Given the description of an element on the screen output the (x, y) to click on. 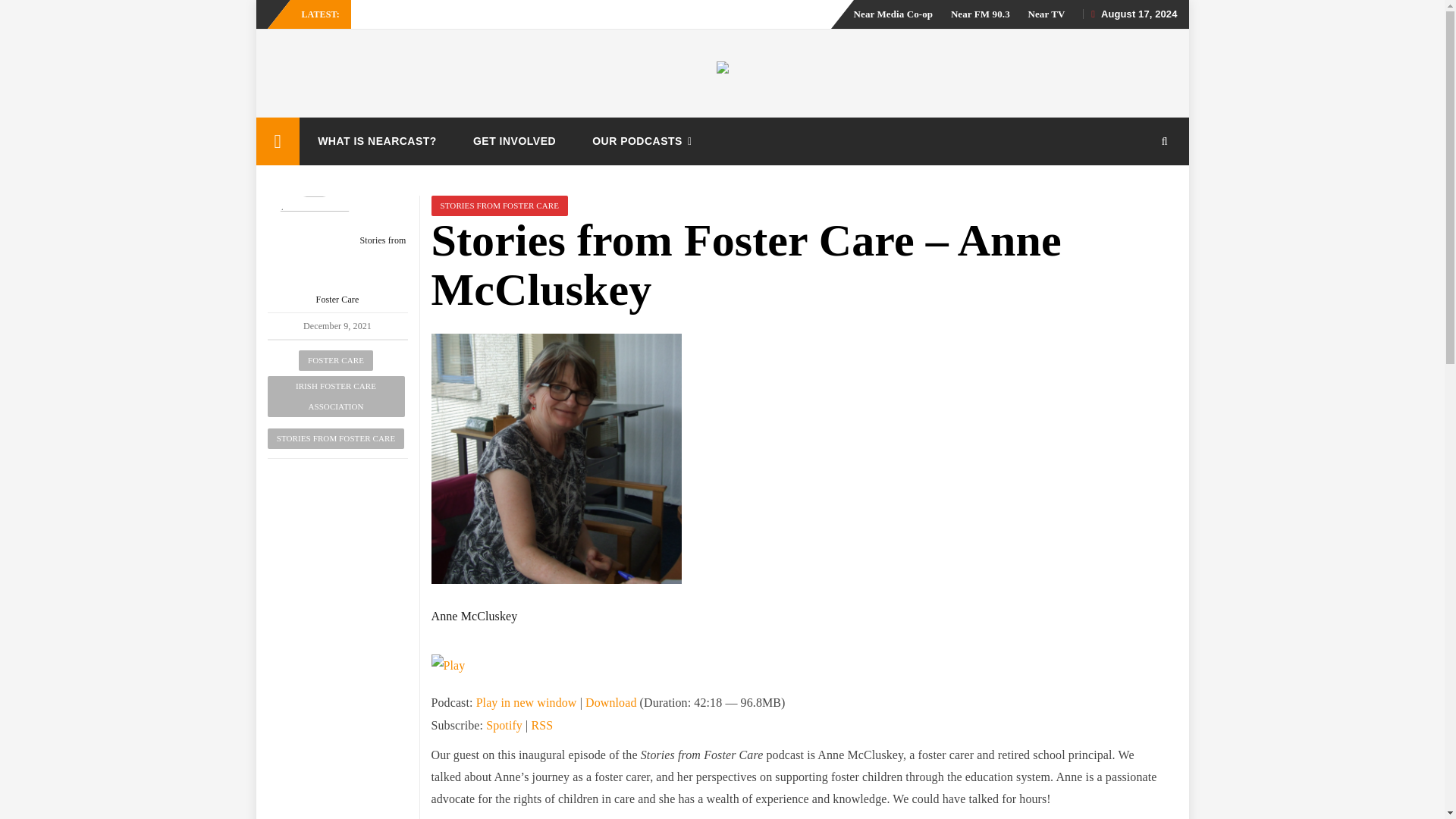
Near TV (1045, 13)
Play (447, 663)
Subscribe via RSS (542, 725)
OUR PODCASTS (643, 141)
GET INVOLVED (513, 140)
Play in new window (526, 702)
Subscribe on Spotify (504, 725)
Near FM 90.3 (980, 13)
